Given the description of an element on the screen output the (x, y) to click on. 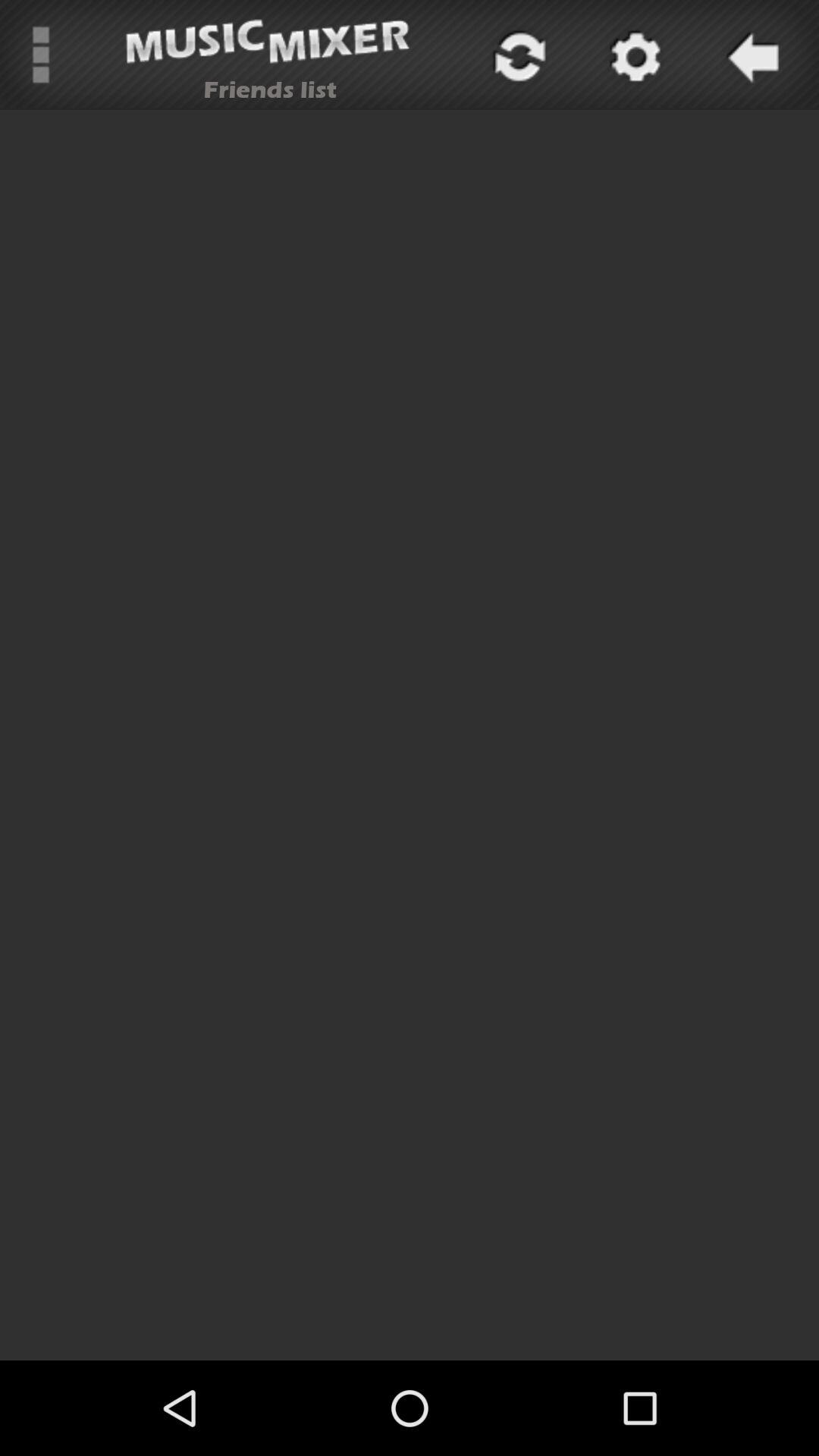
tap item to the left of the friends list app (40, 54)
